Given the description of an element on the screen output the (x, y) to click on. 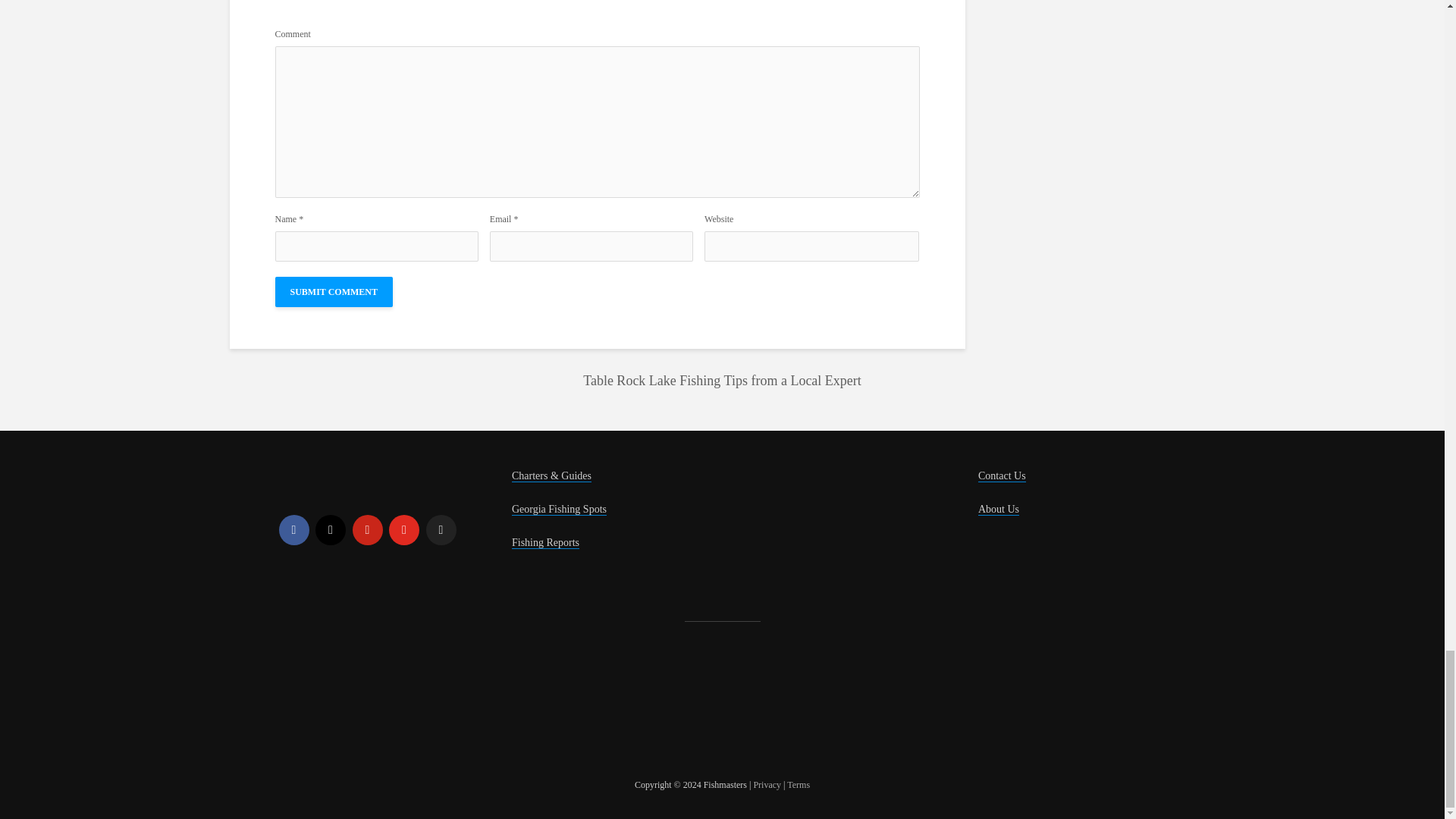
DMCA.com Protection Status (392, 704)
YouTube (403, 530)
Submit Comment (333, 291)
Instagram (330, 530)
Pinterest (366, 530)
Facebook (293, 530)
